Given the description of an element on the screen output the (x, y) to click on. 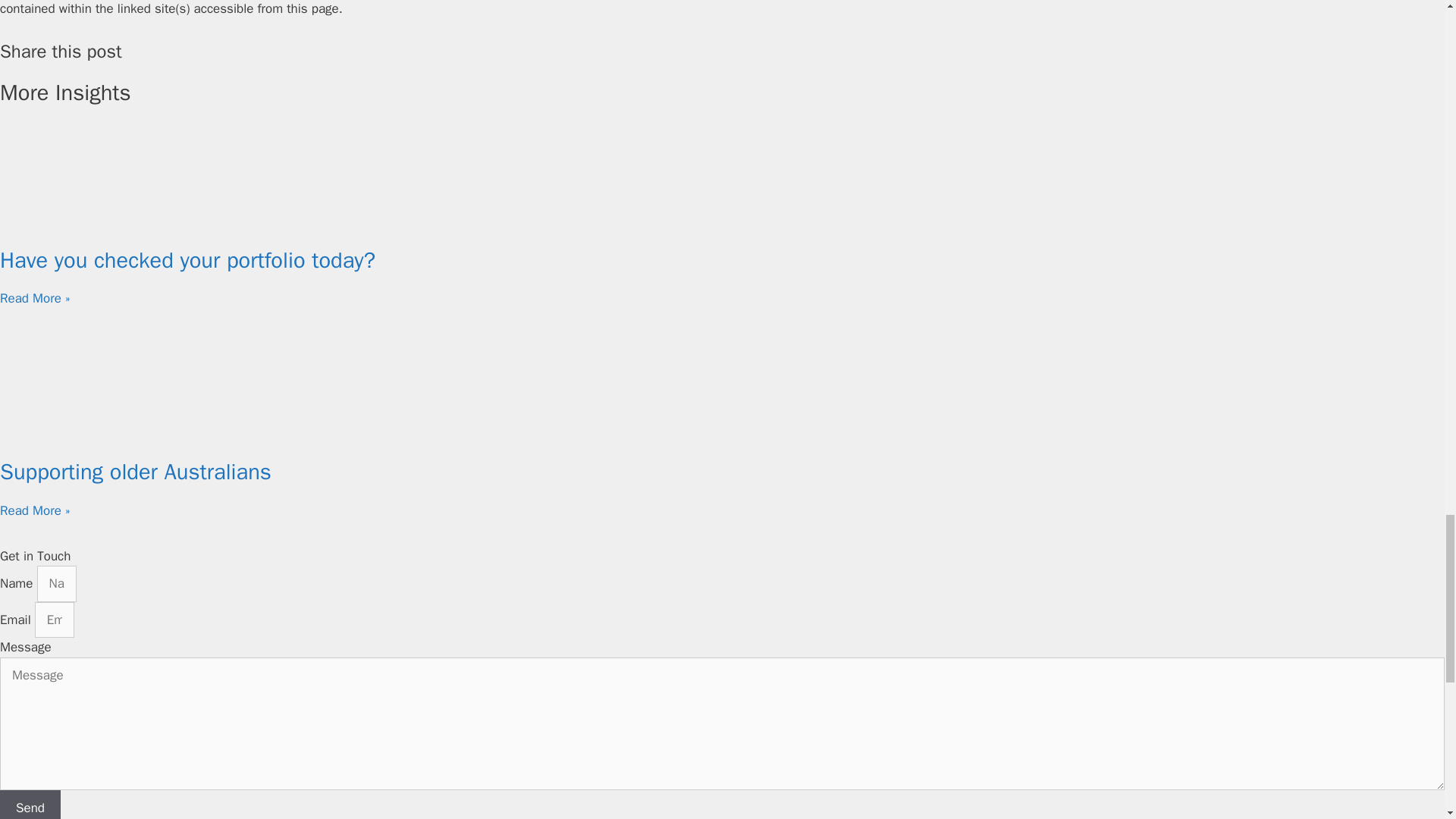
Send (30, 804)
Have you checked your portfolio today? (187, 260)
Supporting older Australians (135, 471)
